Given the description of an element on the screen output the (x, y) to click on. 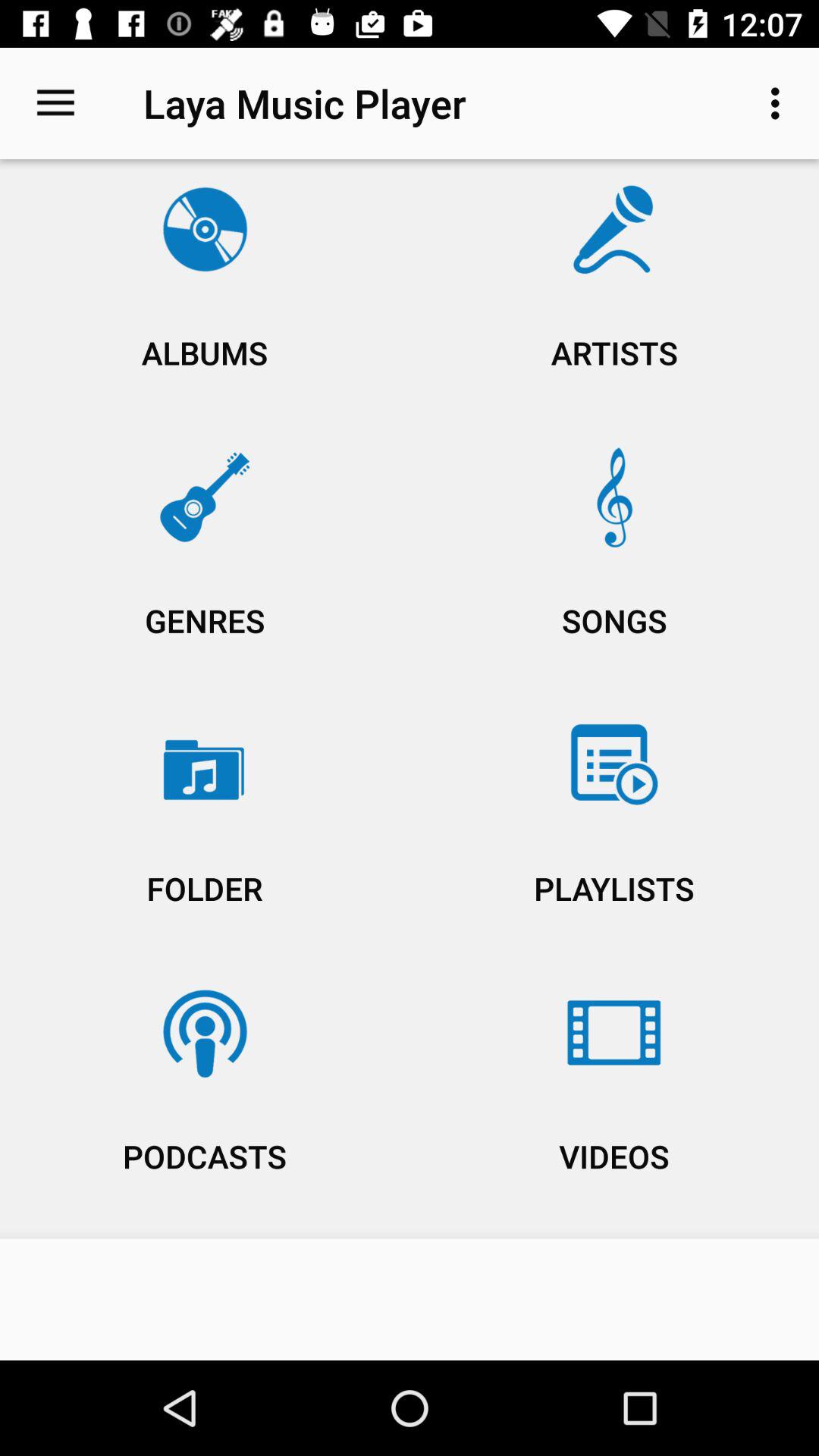
launch icon next to the albums icon (614, 297)
